Given the description of an element on the screen output the (x, y) to click on. 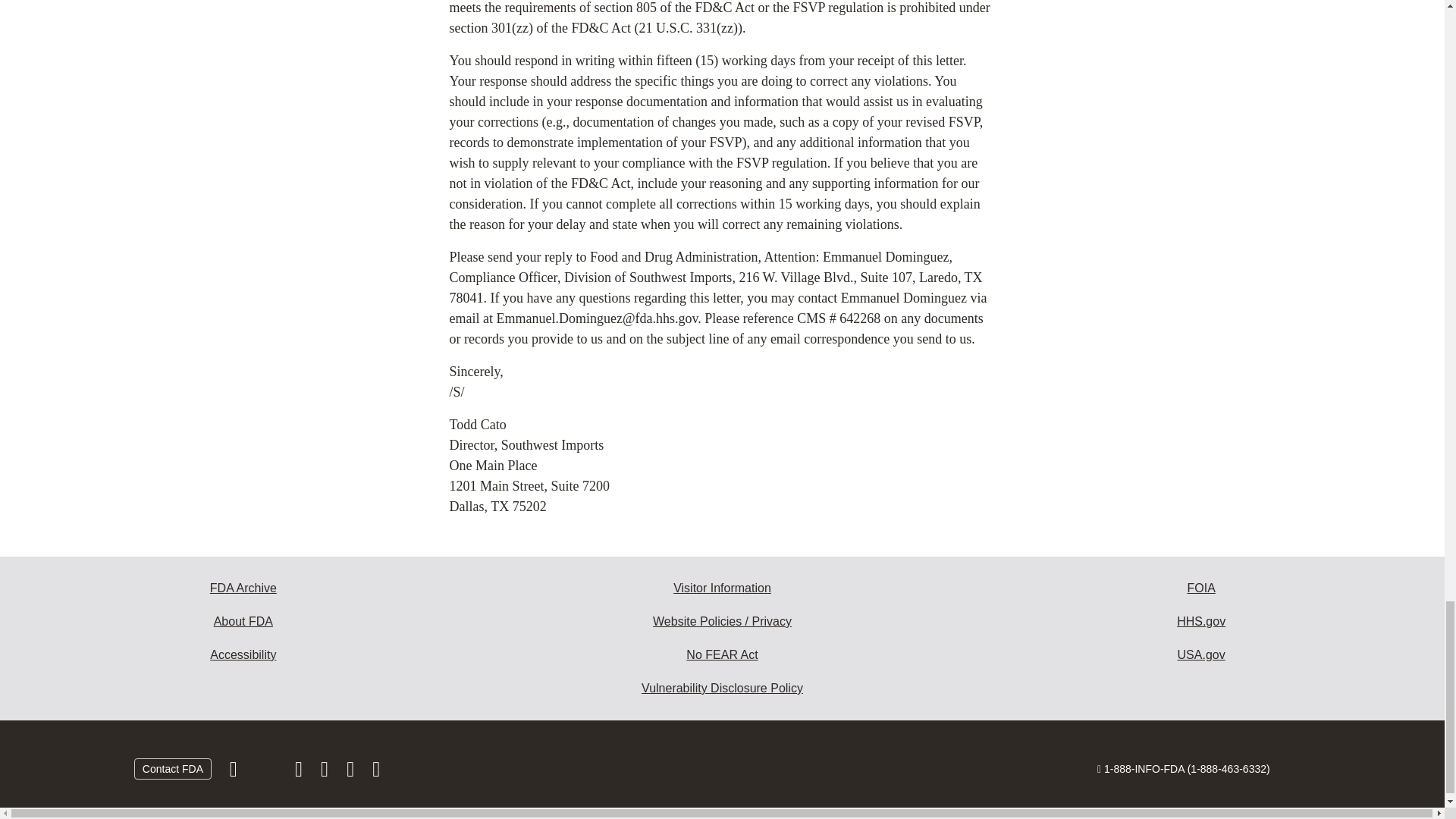
View FDA videos on YouTube (352, 772)
Follow FDA on X (266, 772)
Health and Human Services (1200, 621)
Follow FDA on LinkedIn (326, 772)
Follow FDA on Facebook (234, 772)
Follow FDA on Instagram (299, 772)
Subscribe to FDA RSS feeds (376, 772)
Freedom of Information Act (1200, 588)
